Given the description of an element on the screen output the (x, y) to click on. 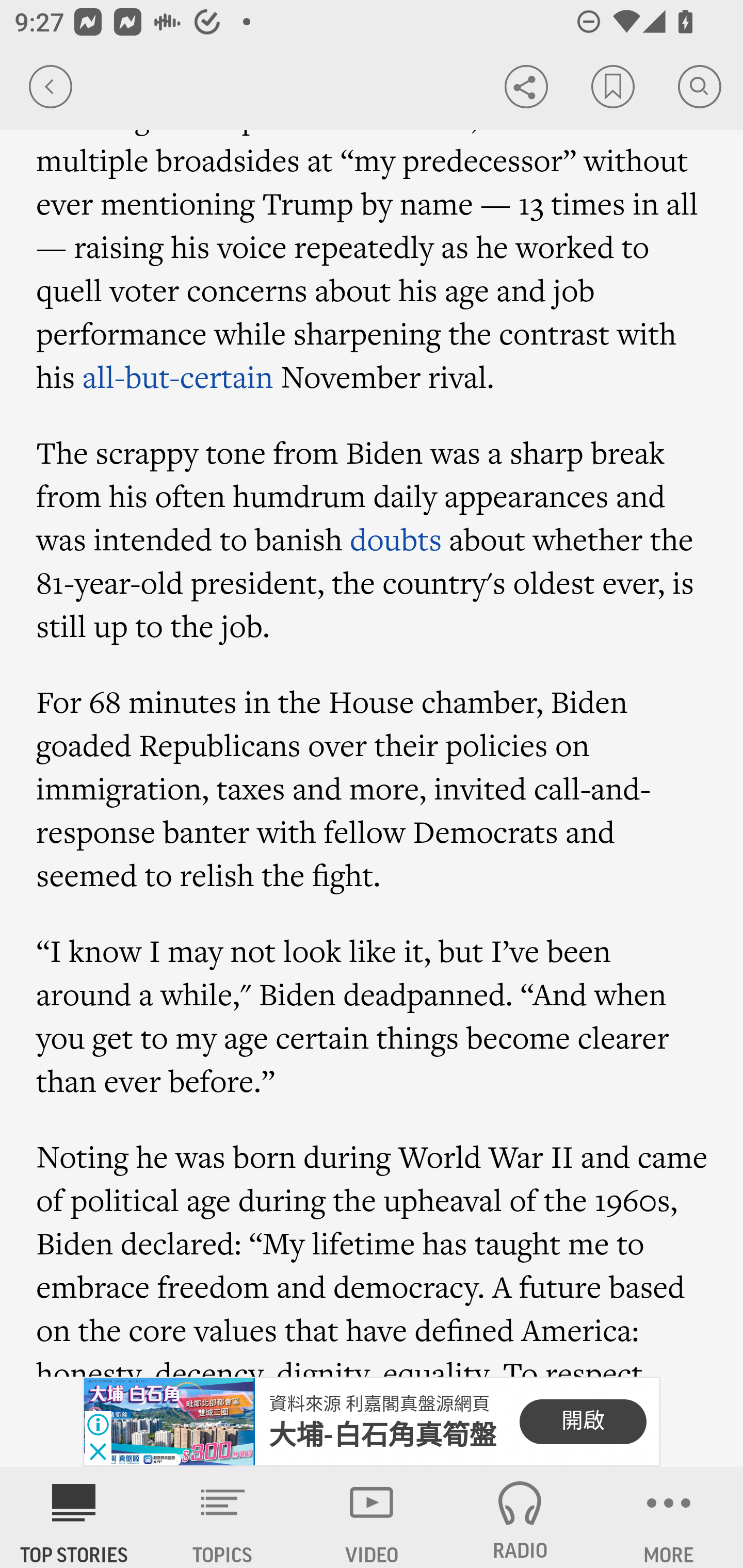
all-but-certain (177, 376)
doubts (395, 539)
B30001746 (168, 1421)
資料來源 利嘉閣真盤源網頁 (379, 1403)
開啟 (582, 1421)
大埔-白石角真筍盤 (382, 1434)
AP News TOP STORIES (74, 1517)
TOPICS (222, 1517)
VIDEO (371, 1517)
RADIO (519, 1517)
MORE (668, 1517)
